Given the description of an element on the screen output the (x, y) to click on. 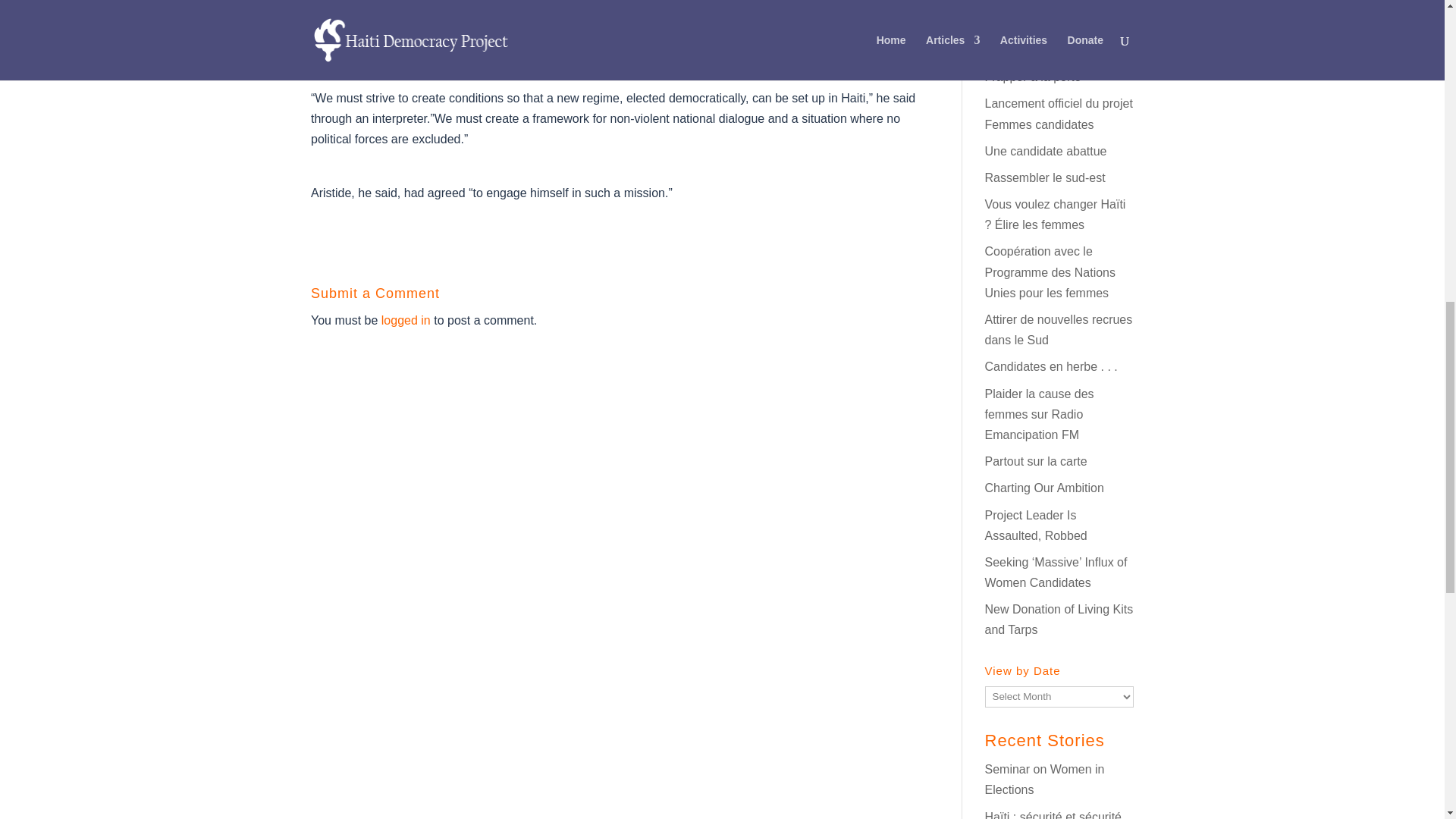
Une candidate abattue (1045, 151)
Pounding on the Door (1032, 76)
Rassembler le sud-est (1044, 177)
Lancement officiel du projet Femmes candidates (1058, 113)
logged in (405, 319)
